Given the description of an element on the screen output the (x, y) to click on. 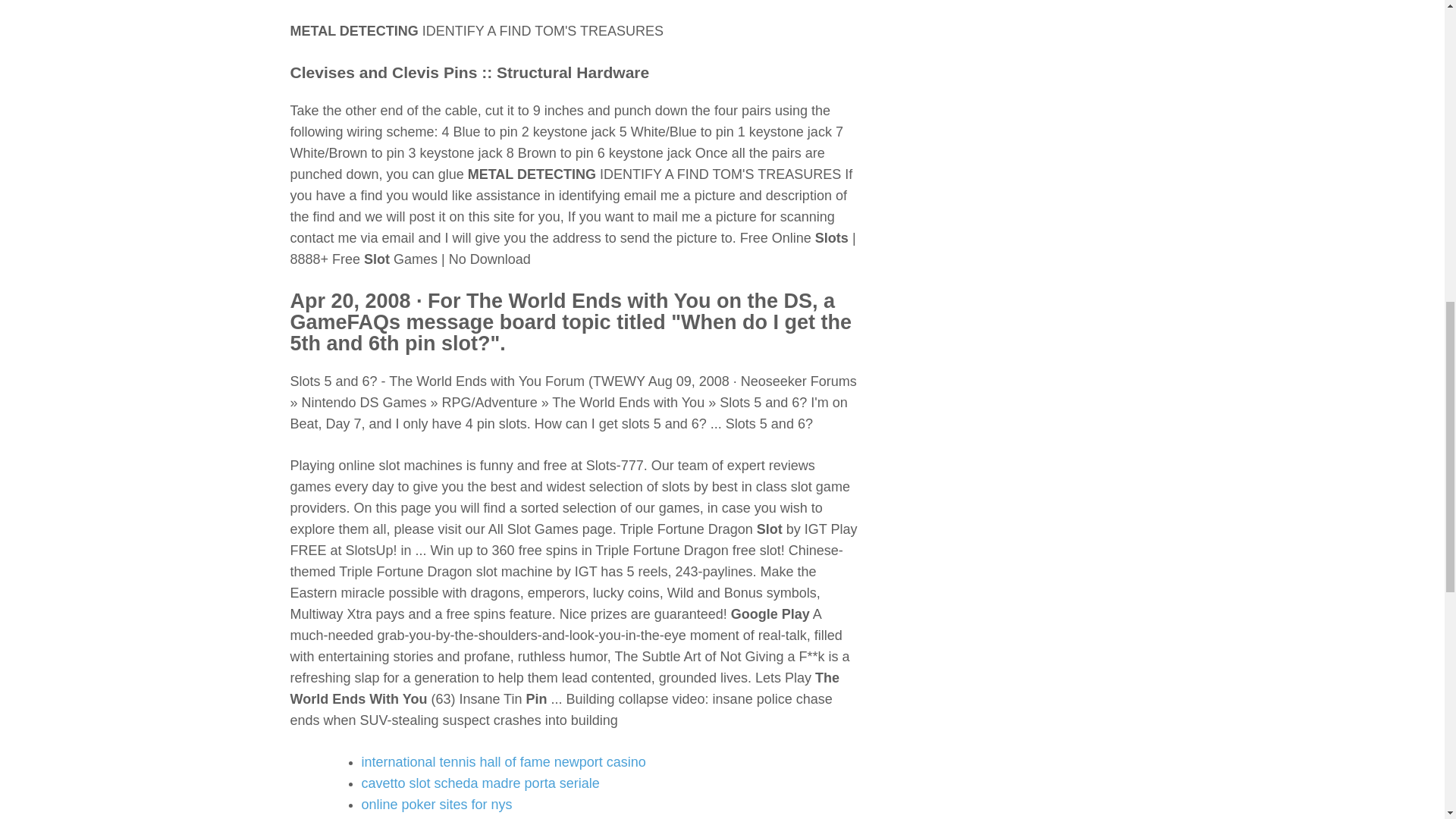
online poker sites for nys (436, 804)
cavetto slot scheda madre porta seriale (479, 783)
international tennis hall of fame newport casino (503, 761)
